Given the description of an element on the screen output the (x, y) to click on. 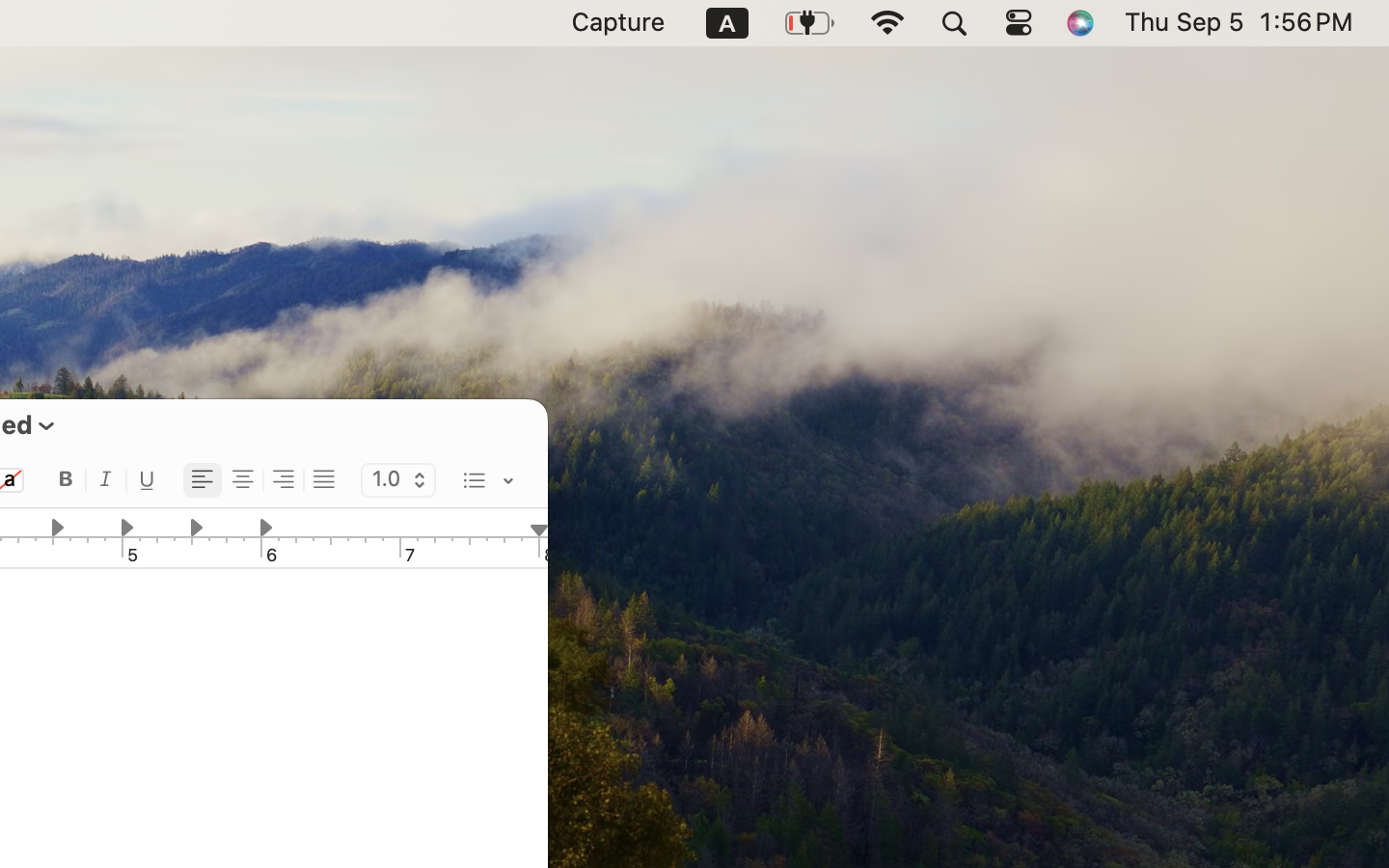
1.0 Element type: AXPopUpButton (397, 481)
<AXUIElement 0x2d92b8390> {pid=2068} Element type: AXRadioGroup (263, 481)
